Given the description of an element on the screen output the (x, y) to click on. 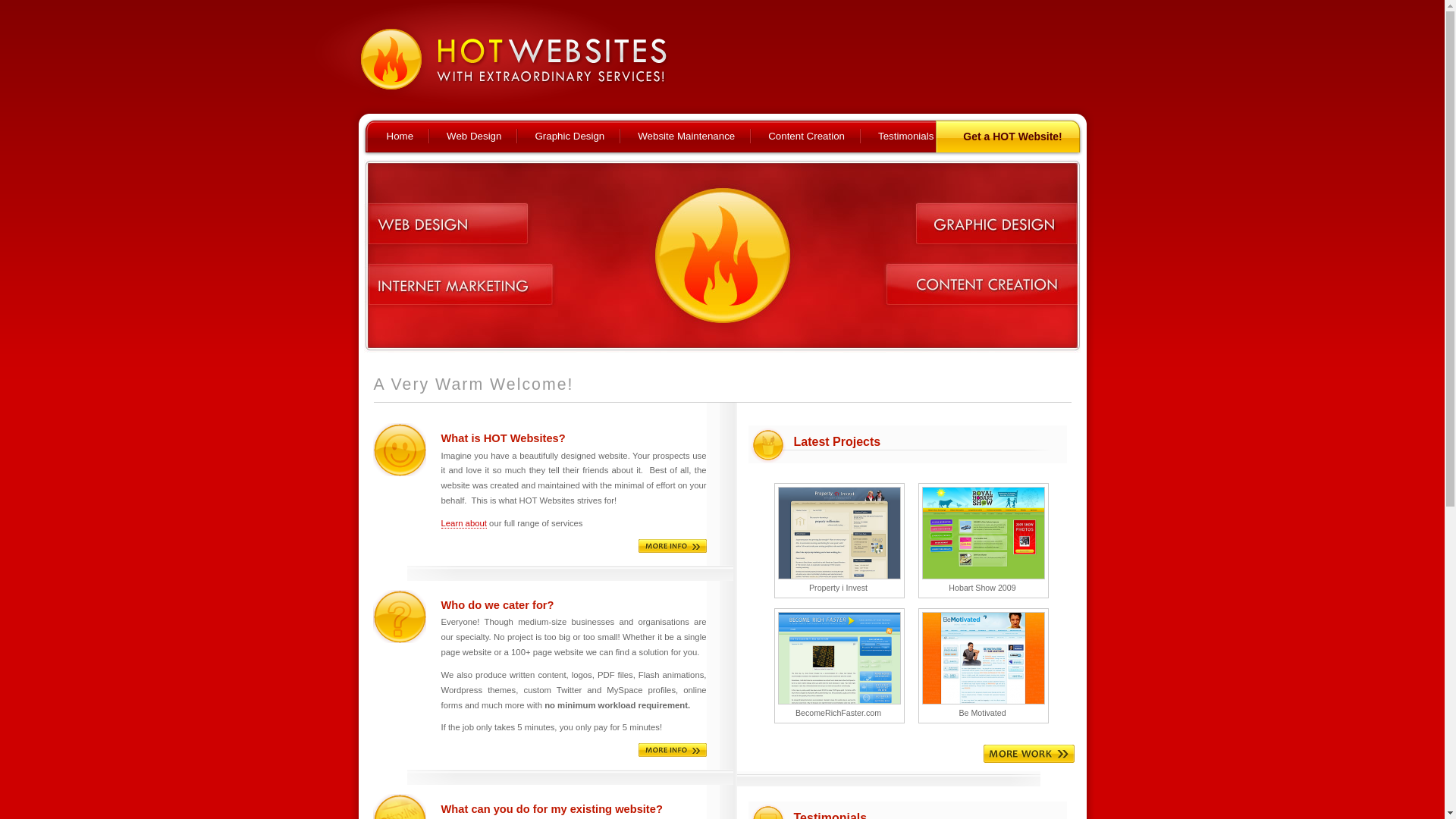
Website Maintenance Element type: text (694, 135)
Content Creation Element type: text (814, 135)
Click here to for more information Element type: hover (672, 545)
BecomeRichFaster.com Element type: text (838, 665)
Web Design Element type: text (481, 135)
Click here to for more information Element type: hover (672, 749)
Hobart Show 2009 Element type: text (982, 540)
Property i Invest Element type: text (838, 540)
Be Motivated Element type: text (982, 665)
Click here to view more projects Element type: hover (1027, 753)
Home Element type: text (408, 135)
Graphic Design Element type: text (577, 135)
Get a HOT Website! Element type: text (1020, 136)
Testimonials Element type: text (914, 135)
Learn about Element type: text (463, 523)
